Given the description of an element on the screen output the (x, y) to click on. 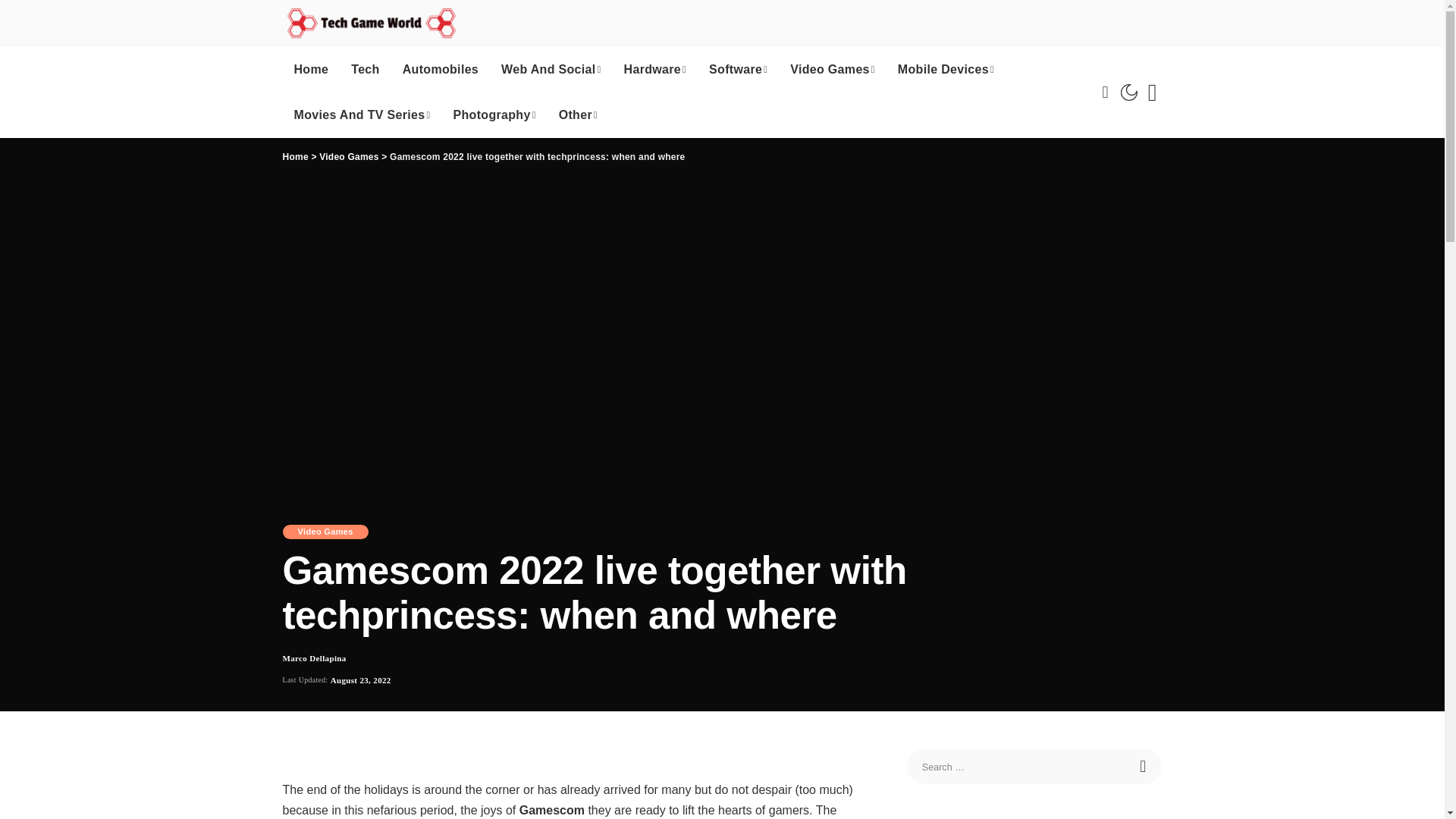
Search (1151, 92)
Search (1143, 766)
Search (1143, 766)
